Given the description of an element on the screen output the (x, y) to click on. 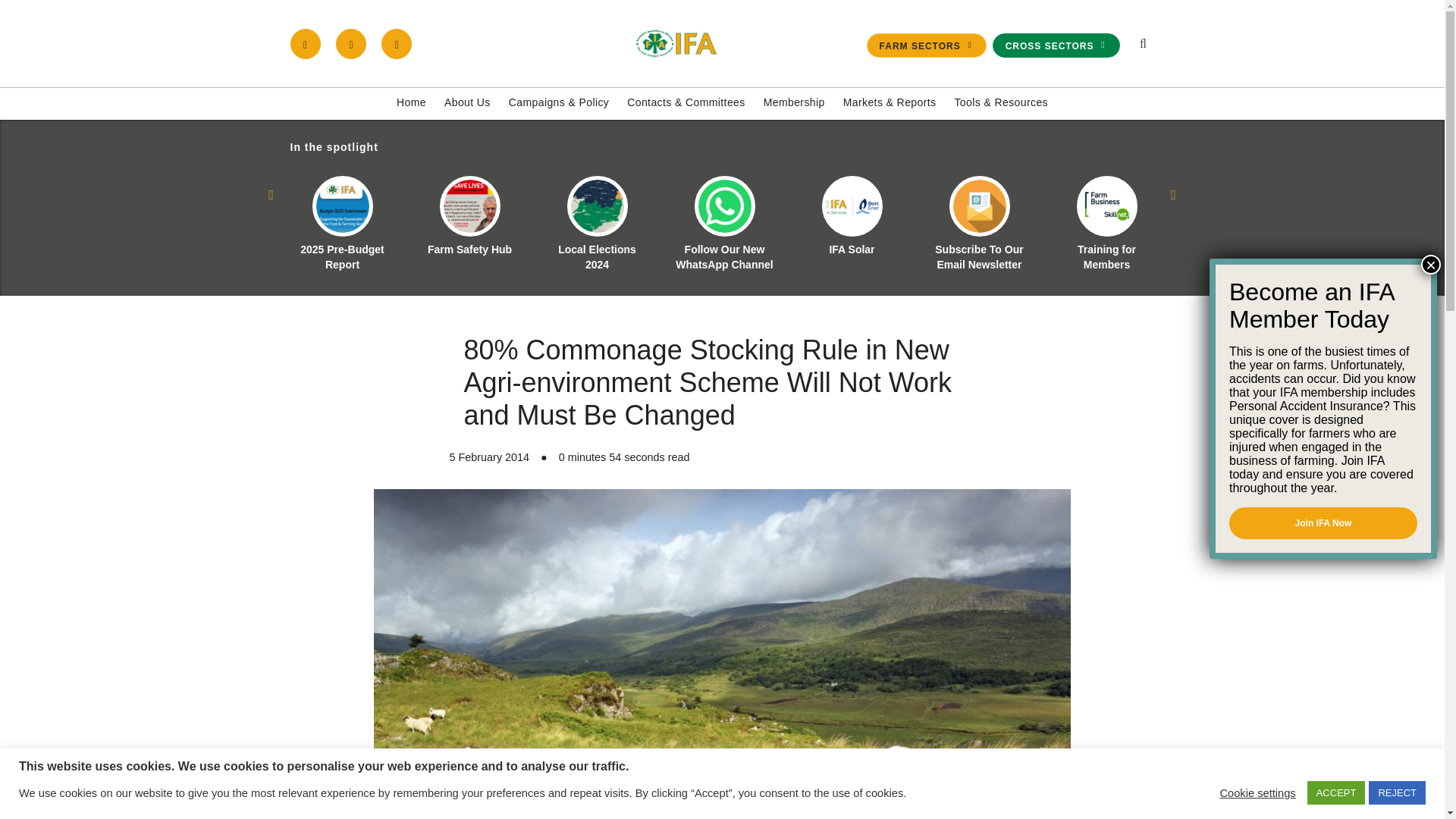
Get the official IFA App (396, 43)
CROSS SECTORS (1055, 45)
About Us (467, 103)
Follow IFA on Facebook (304, 43)
Follow IFA on Twitter (351, 43)
Home (411, 103)
FARM SECTORS (926, 45)
Search (1070, 210)
